Given the description of an element on the screen output the (x, y) to click on. 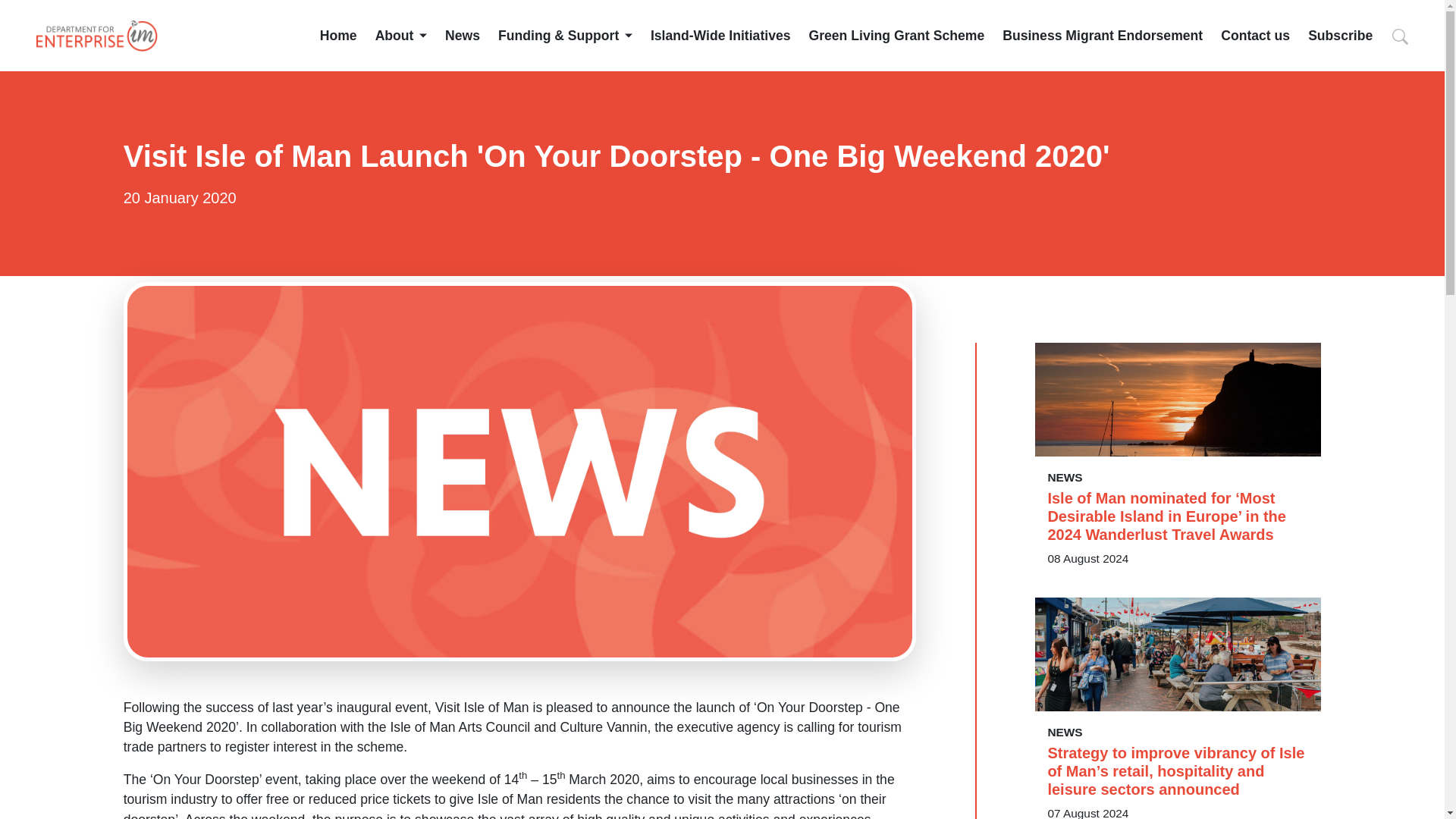
Subscribe (1340, 35)
Contact us (1255, 35)
Green Living Grant Scheme (897, 35)
Business Migrant Endorsement (1102, 35)
About (400, 35)
Island-Wide Initiatives (720, 35)
